Given the description of an element on the screen output the (x, y) to click on. 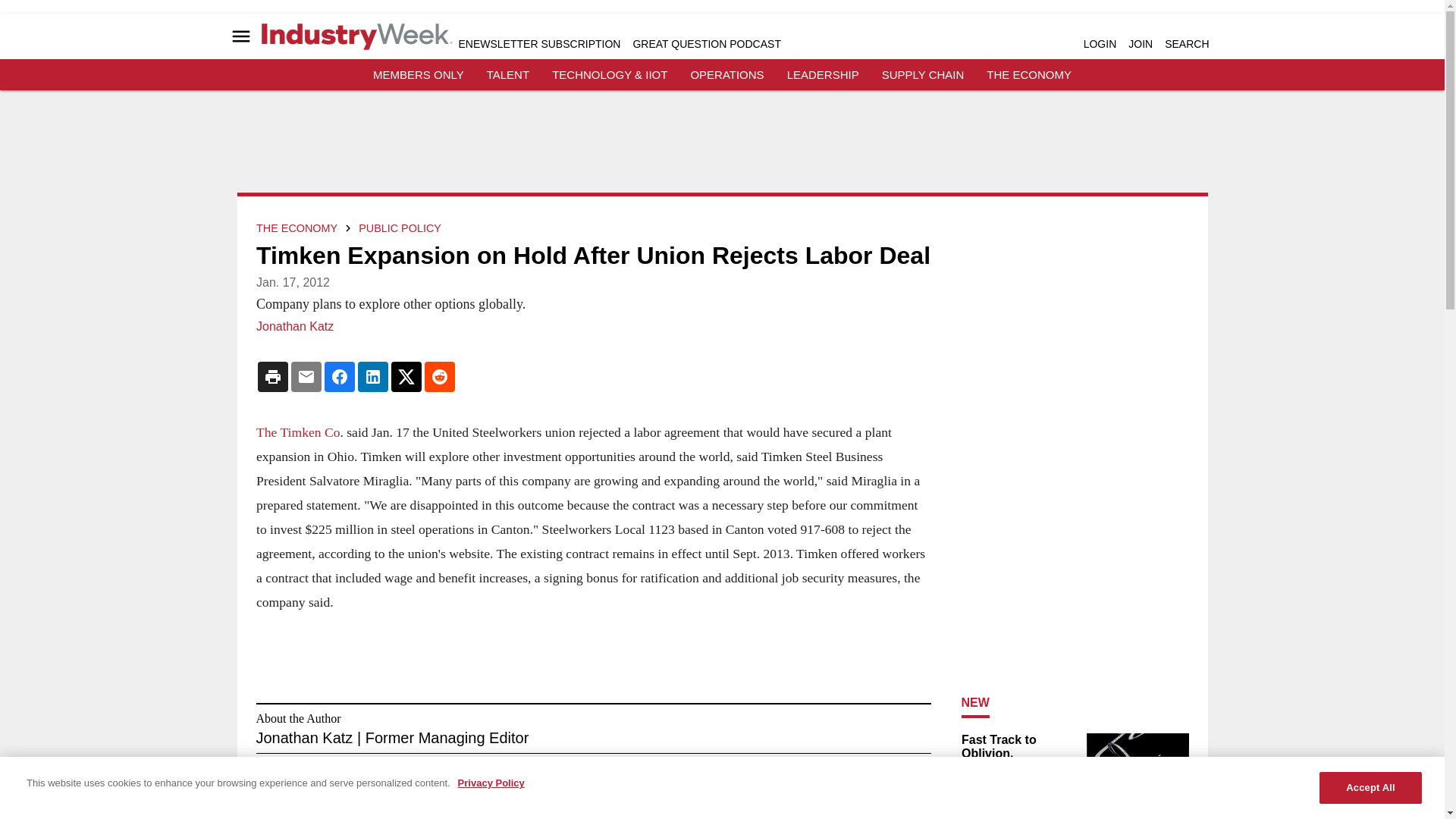
LEADERSHIP (823, 74)
LOGIN (1099, 43)
GREAT QUESTION PODCAST (705, 43)
THE ECONOMY (1029, 74)
MEMBERS ONLY (418, 74)
3rd party ad content (721, 146)
SEARCH (1186, 43)
JOIN (1140, 43)
ENEWSLETTER SUBSCRIPTION (539, 43)
SUPPLY CHAIN (922, 74)
OPERATIONS (726, 74)
TALENT (507, 74)
